Given the description of an element on the screen output the (x, y) to click on. 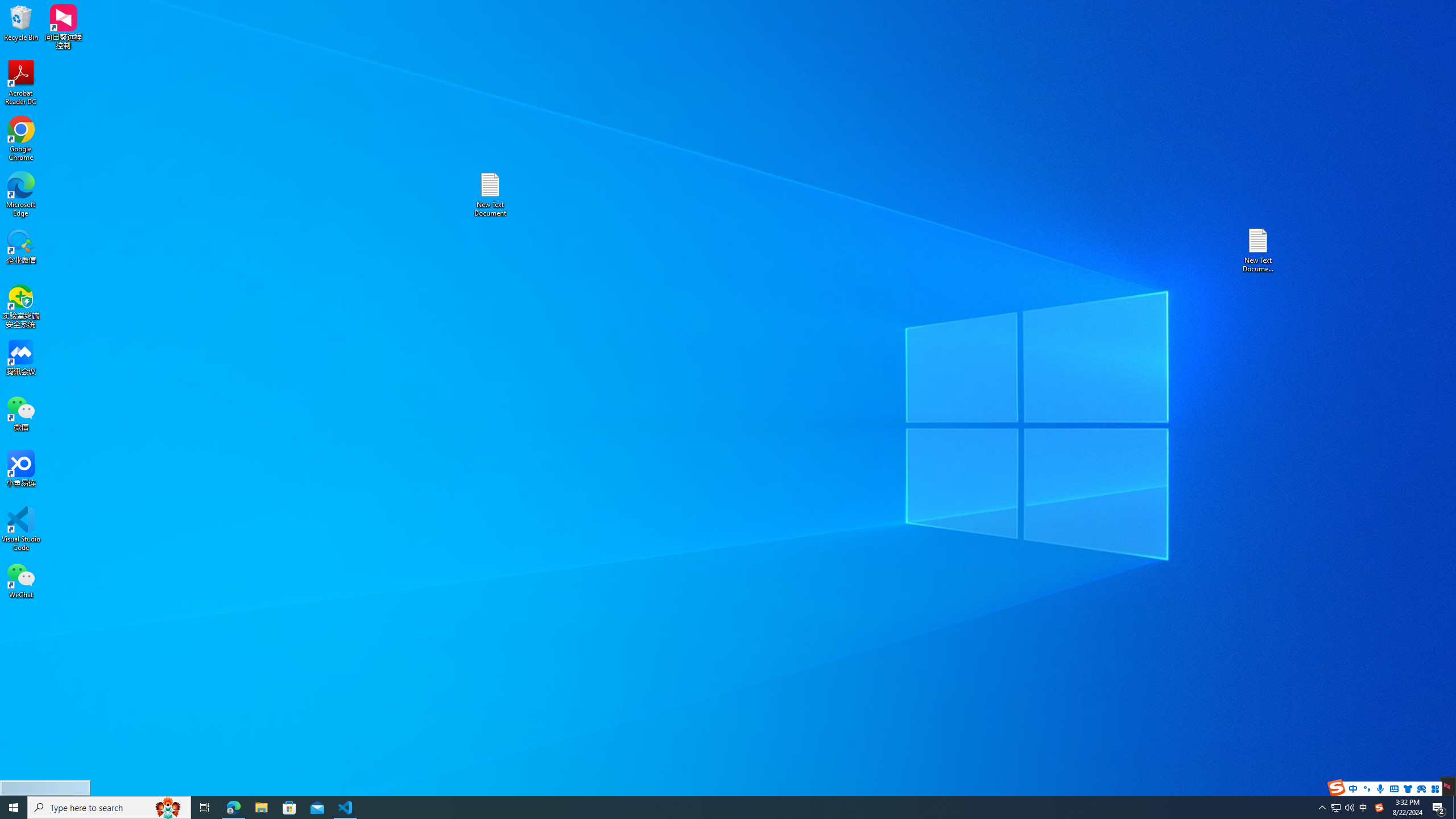
Acrobat Reader DC (21, 82)
Microsoft Edge - 1 running window (233, 807)
Recycle Bin (21, 22)
WeChat (21, 580)
